Given the description of an element on the screen output the (x, y) to click on. 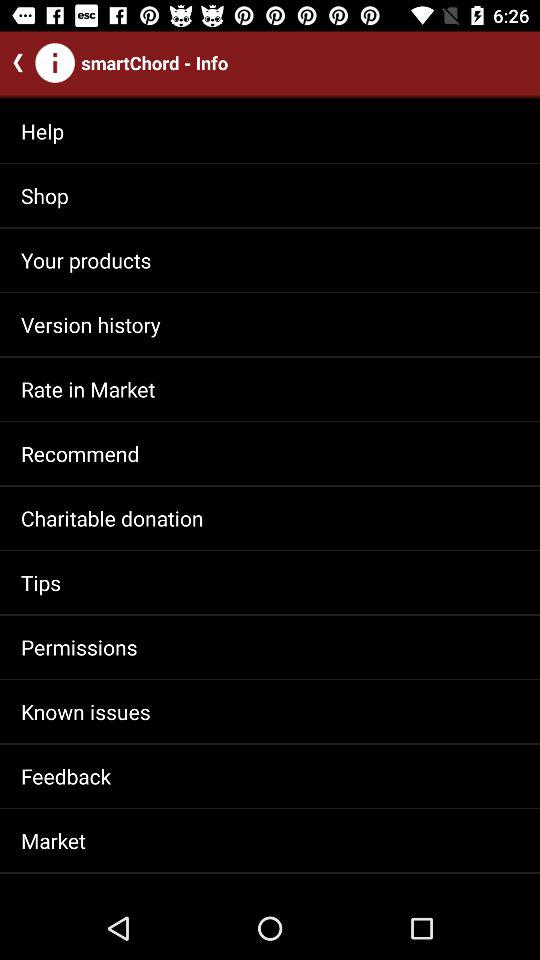
click on icon with i at top left (55, 63)
